Given the description of an element on the screen output the (x, y) to click on. 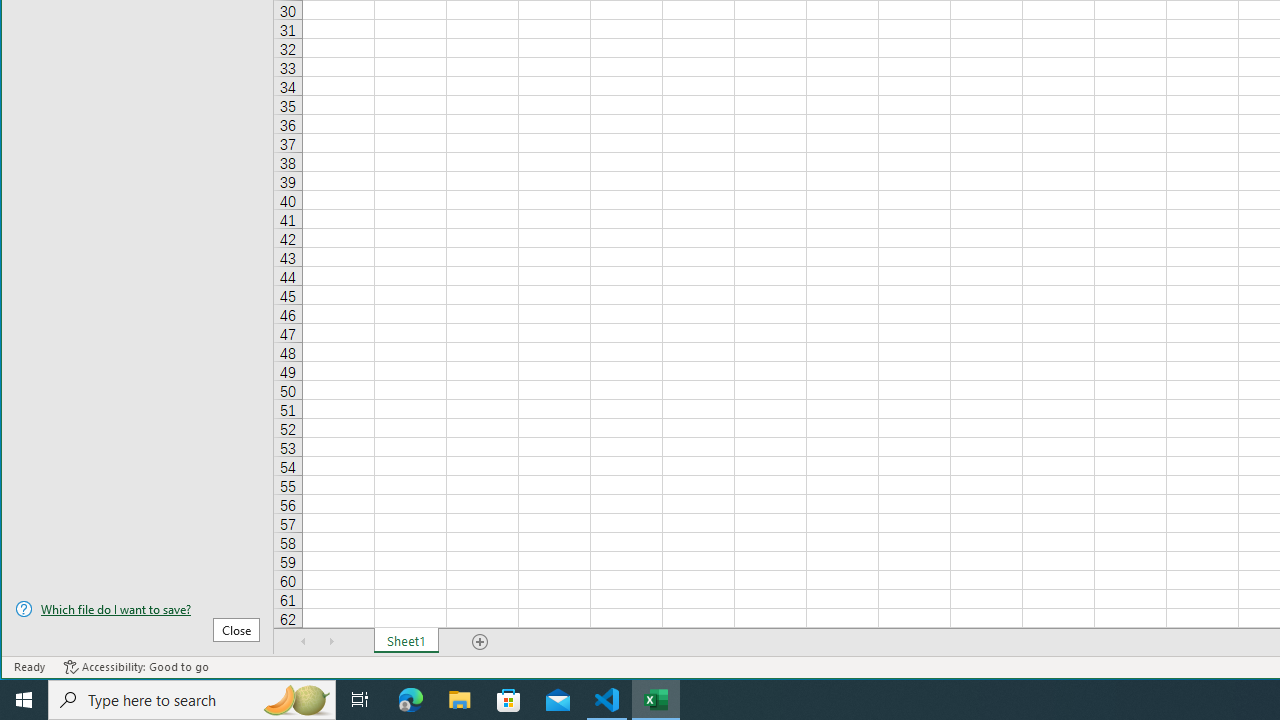
Scroll Right (331, 641)
Search highlights icon opens search home window (295, 699)
